Given the description of an element on the screen output the (x, y) to click on. 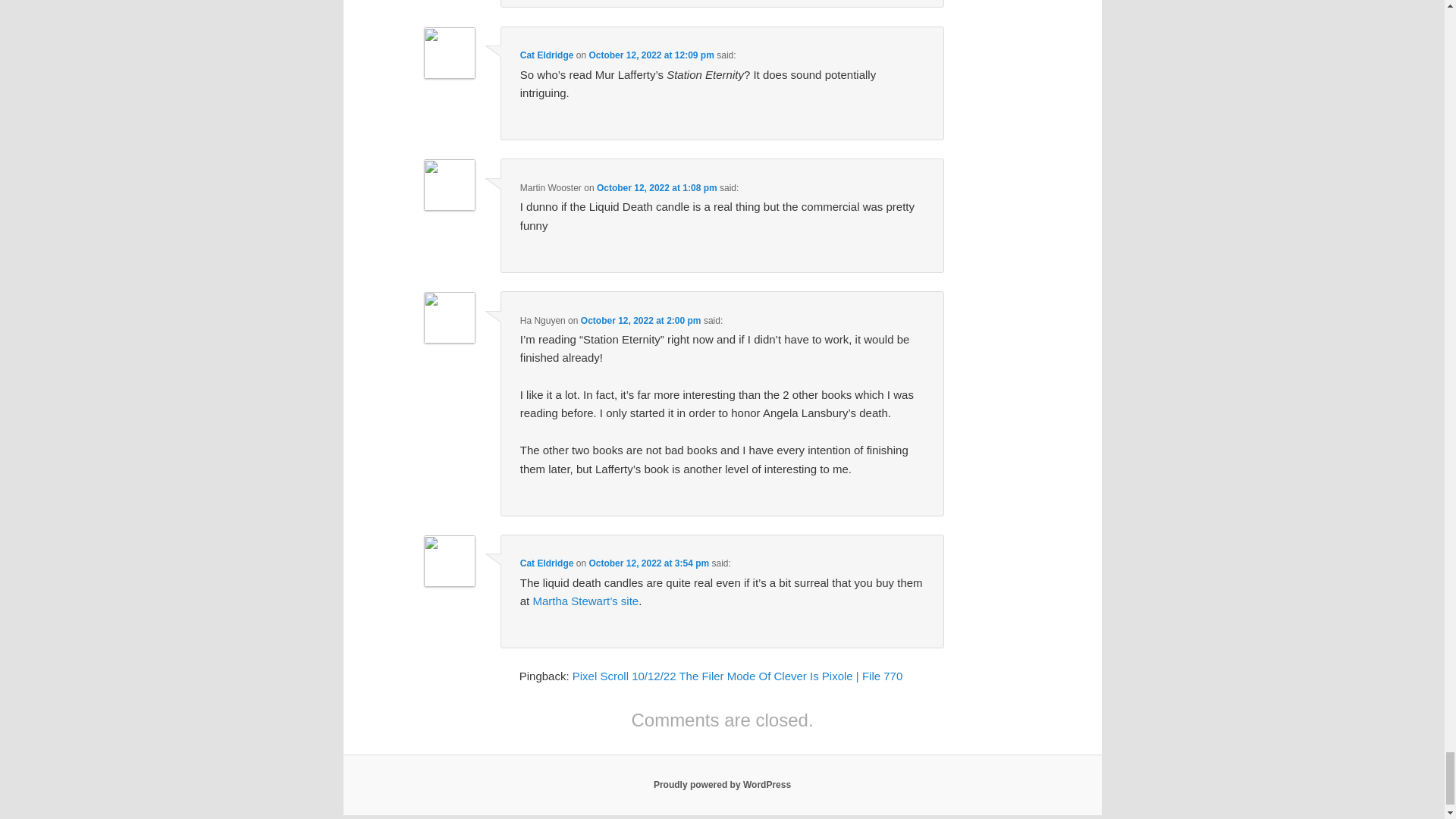
Semantic Personal Publishing Platform (721, 784)
